Given the description of an element on the screen output the (x, y) to click on. 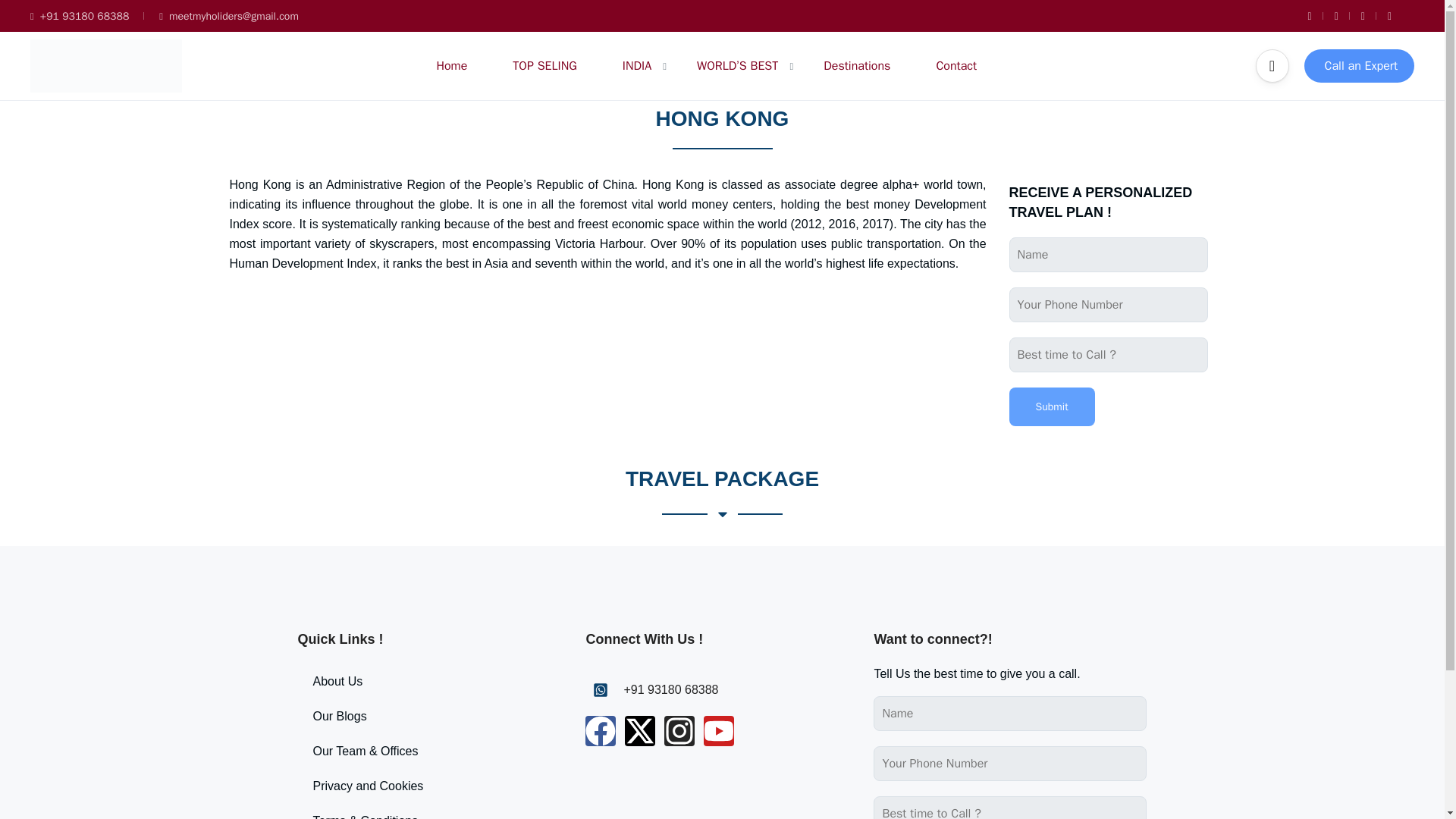
Submit (1051, 406)
INDIA (636, 65)
TOP SELING (543, 65)
Home (451, 65)
